Given the description of an element on the screen output the (x, y) to click on. 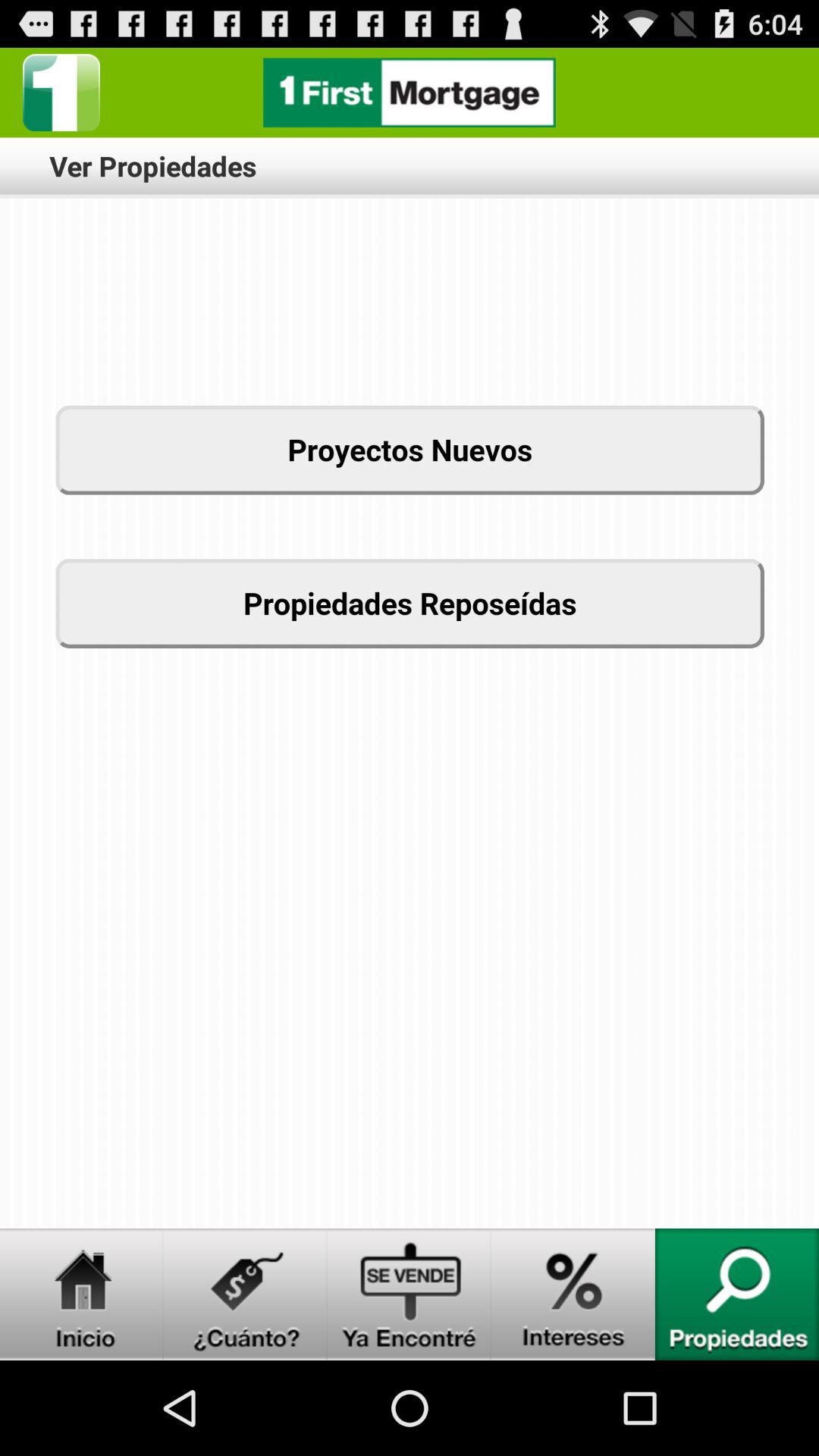
advertisement (409, 92)
